Given the description of an element on the screen output the (x, y) to click on. 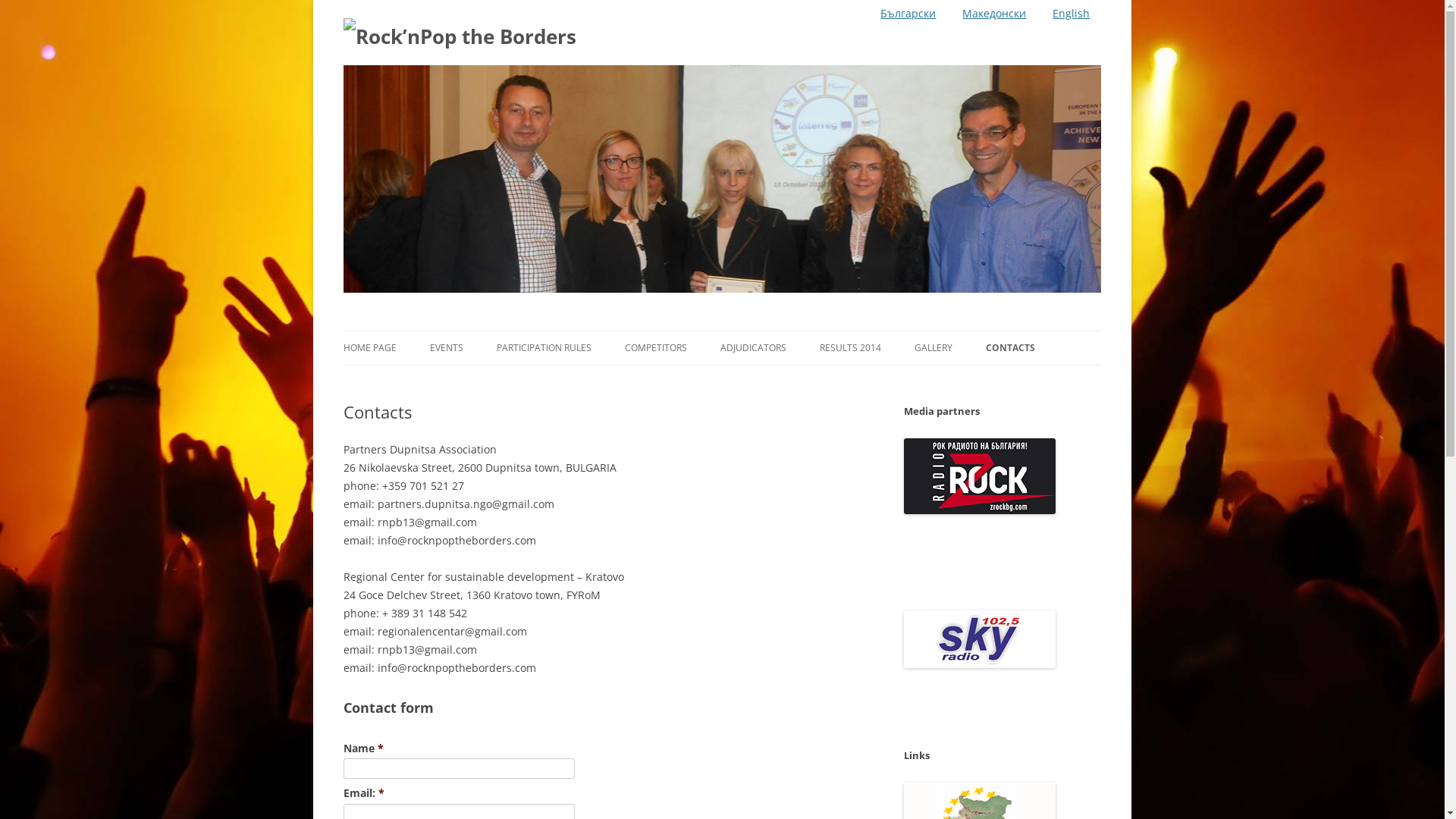
GALLERY Element type: text (933, 347)
CONTACTS Element type: text (1010, 347)
HOME PAGE Element type: text (368, 347)
English Element type: text (1063, 13)
COMPETITORS Element type: text (655, 347)
Rock n Pop the Borders Element type: hover (458, 36)
RESULTS 2014 Element type: text (849, 347)
Back Element type: text (356, 160)
Next Element type: text (1086, 160)
PARTICIPATION RULES Element type: text (542, 347)
Skip to content Element type: text (1138, 88)
